Given the description of an element on the screen output the (x, y) to click on. 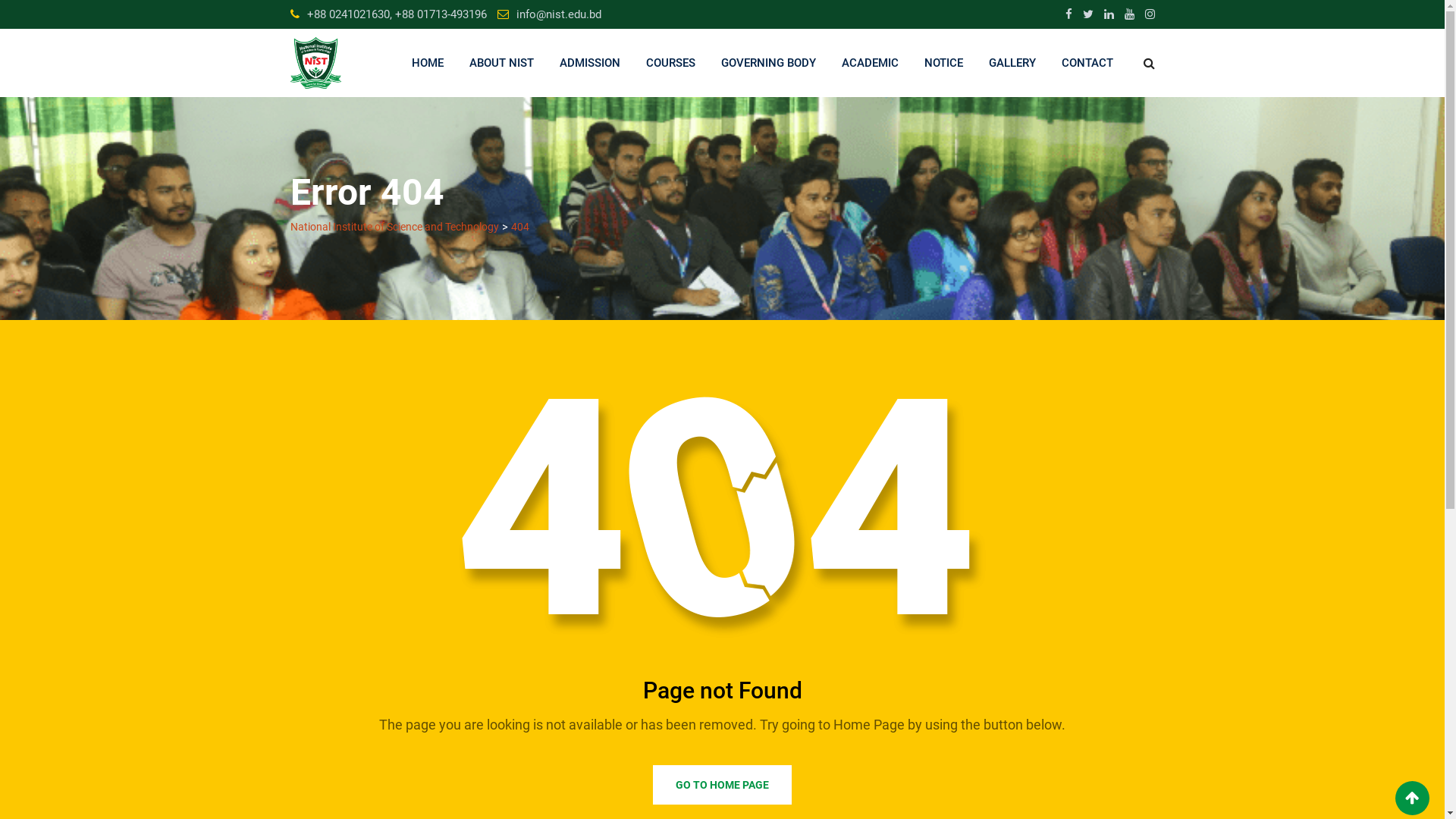
404 Element type: text (520, 226)
National Institute of Science and Technology Element type: text (393, 226)
ACADEMIC Element type: text (869, 62)
info@nist.edu.bd Element type: text (557, 14)
GOVERNING BODY Element type: text (768, 62)
+88 0241021630, +88 01713-493196 Element type: text (396, 14)
ABOUT NIST Element type: text (501, 62)
NOTICE Element type: text (943, 62)
GALLERY Element type: text (1011, 62)
GO TO HOME PAGE Element type: text (721, 784)
COURSES Element type: text (669, 62)
CONTACT Element type: text (1086, 62)
ADMISSION Element type: text (588, 62)
HOME Element type: text (427, 62)
